Given the description of an element on the screen output the (x, y) to click on. 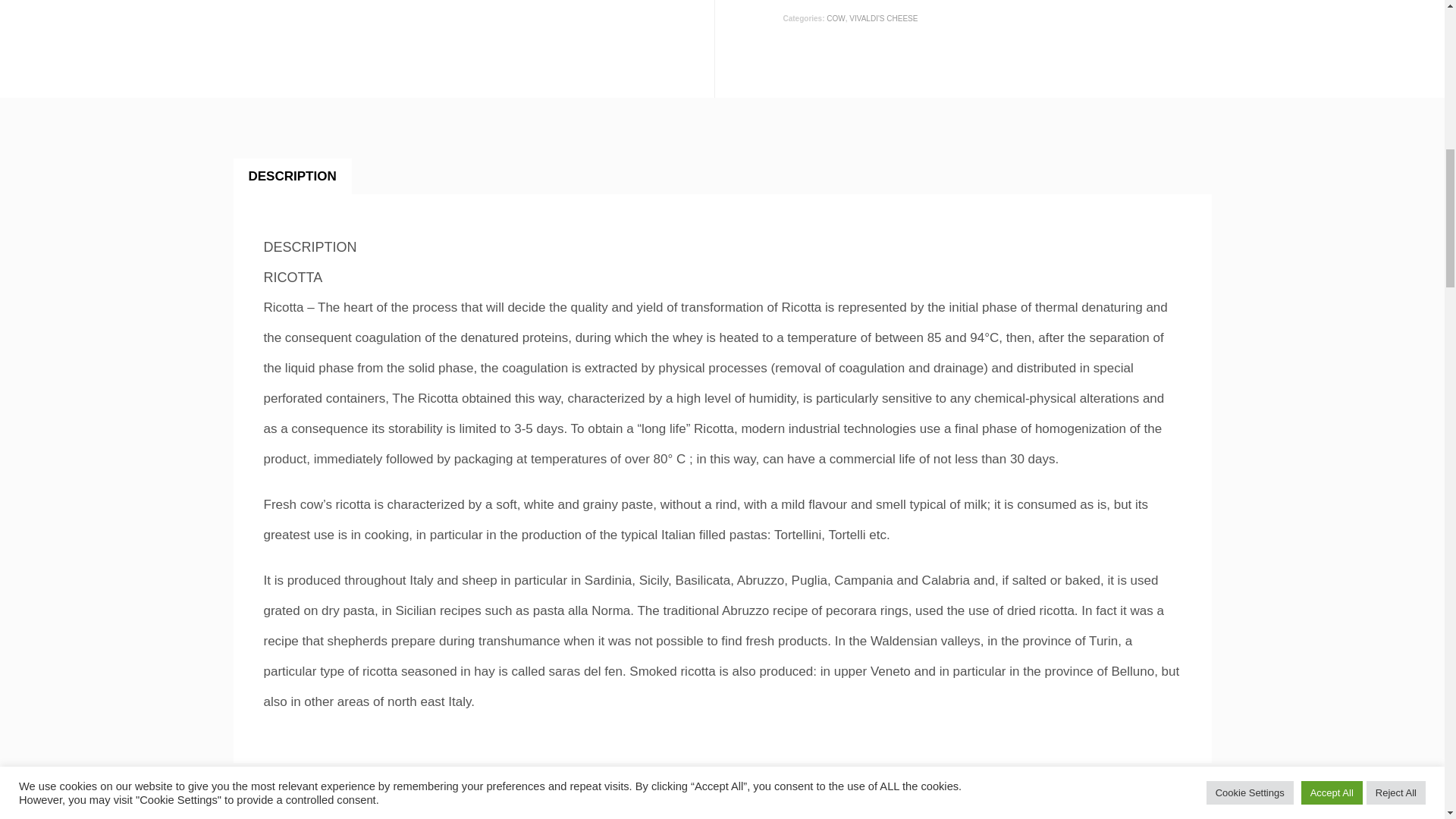
VIVALDI'S CHEESE (882, 18)
DESCRIPTION (292, 176)
COW (835, 18)
